Given the description of an element on the screen output the (x, y) to click on. 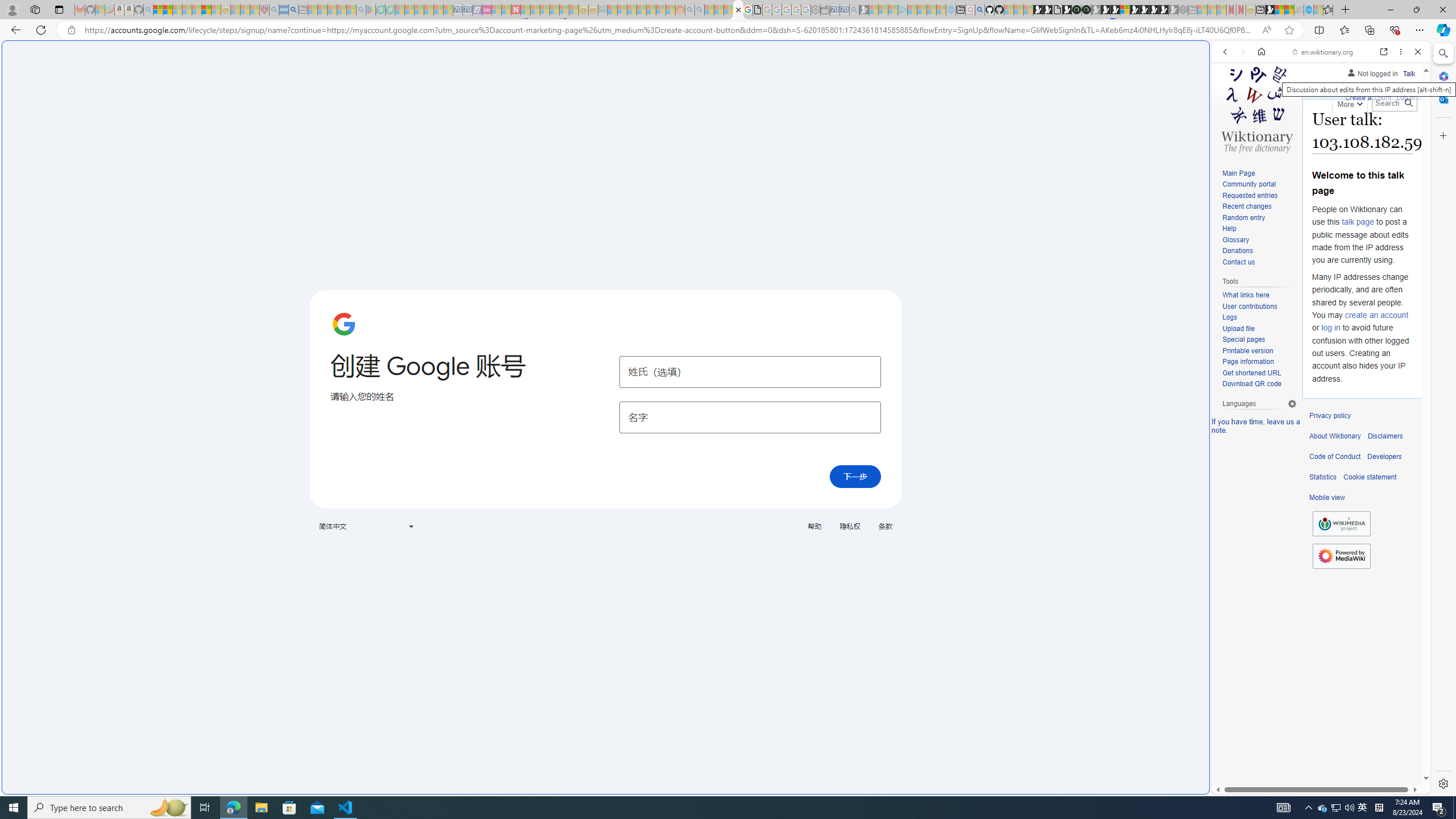
Developers (1384, 456)
Discussion (1367, 87)
Wikimedia Foundation (1341, 523)
Talk (1408, 71)
